Given the description of an element on the screen output the (x, y) to click on. 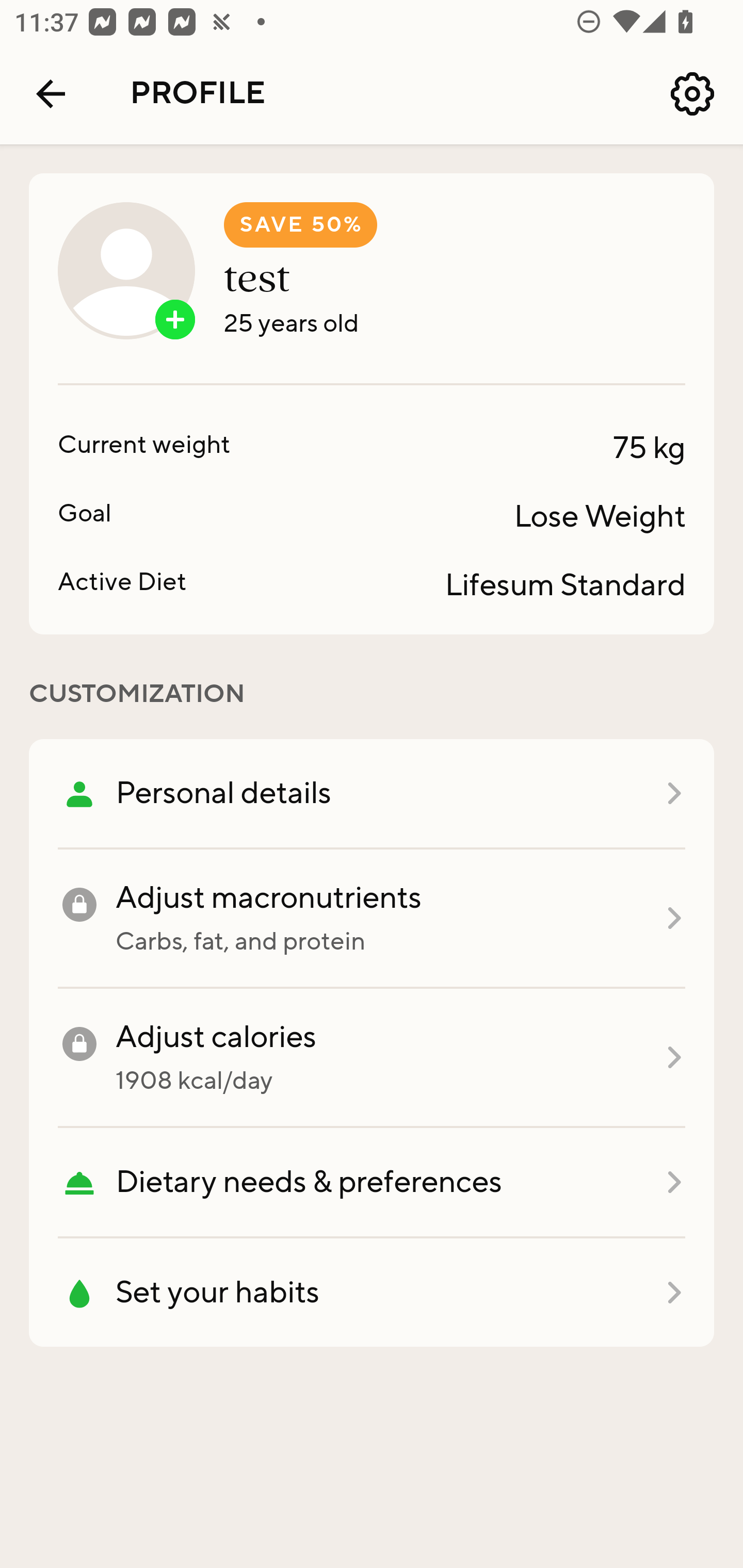
Back (50, 93)
settings (692, 93)
SAVE 50% (300, 224)
profile picture edit_background (125, 270)
Personal details (371, 793)
Adjust macronutrients Carbs, fat, and protein (371, 919)
Adjust calories 1908 kcal/day (371, 1058)
Dietary needs & preferences (371, 1182)
Set your habits (371, 1292)
